Given the description of an element on the screen output the (x, y) to click on. 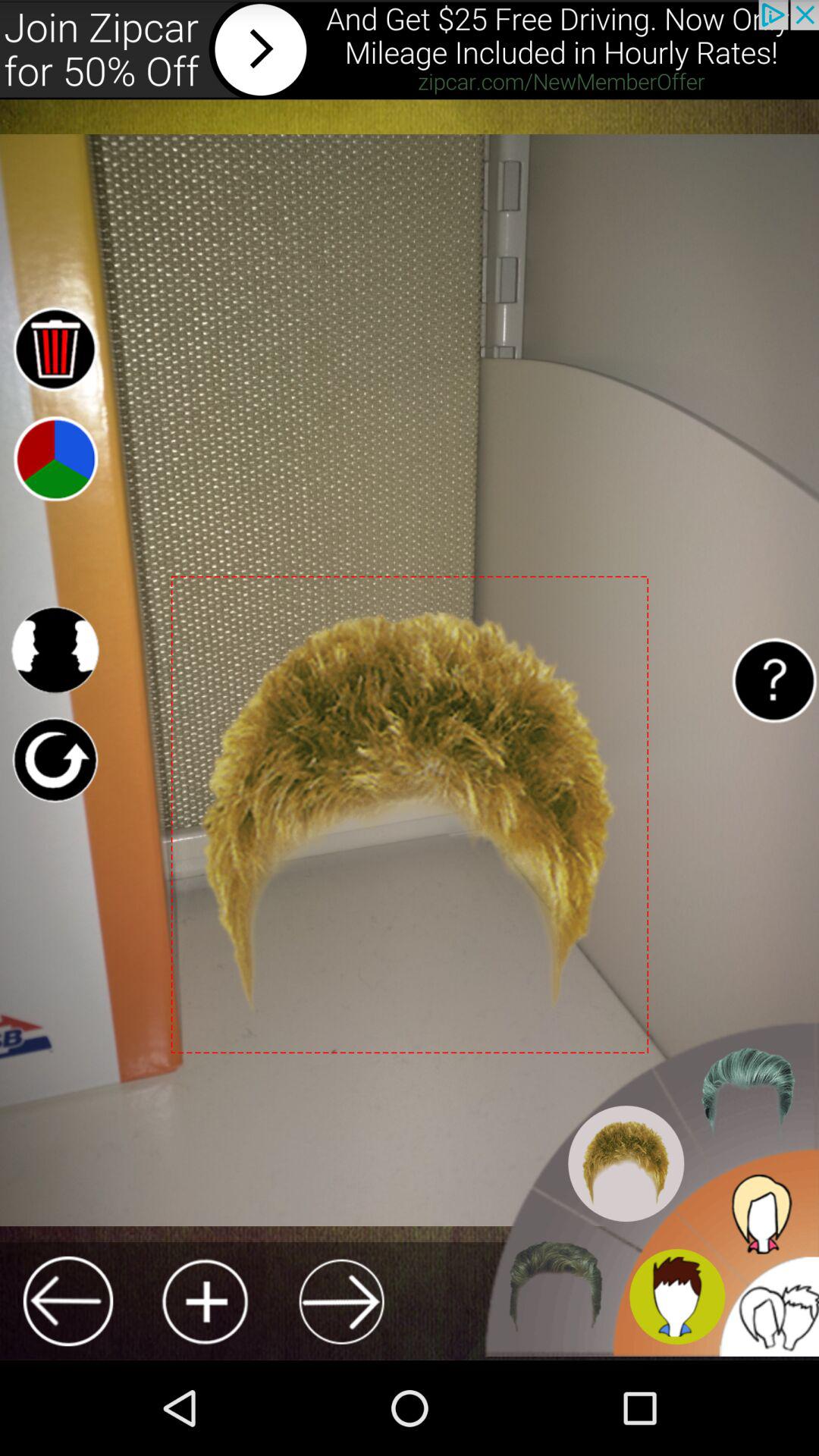
toggle next hair style (341, 1301)
